Given the description of an element on the screen output the (x, y) to click on. 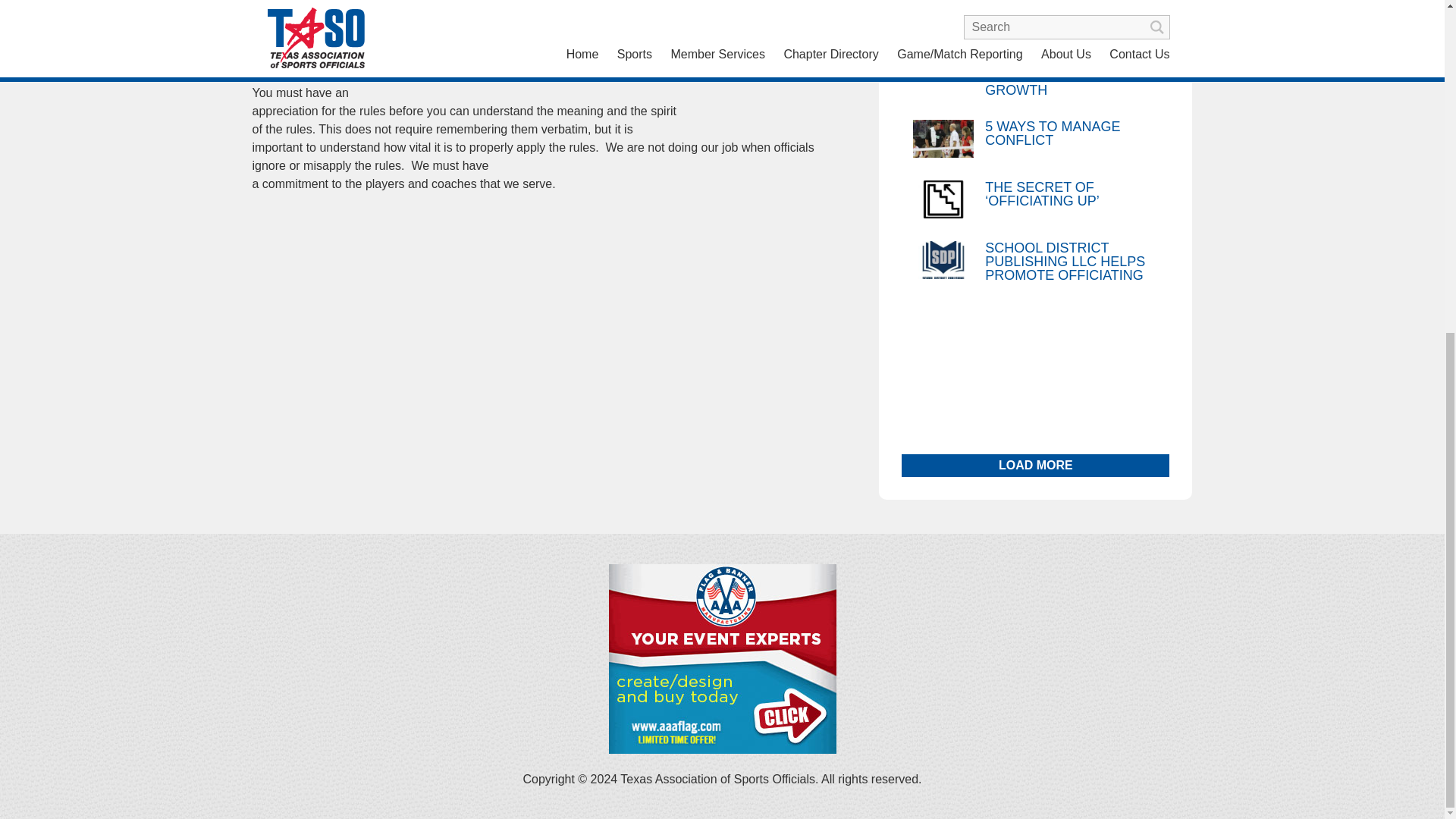
214882 - AAA Flag and Banner Campaign (721, 658)
214882 - AAA Flag and Banner Campaign (721, 748)
